Given the description of an element on the screen output the (x, y) to click on. 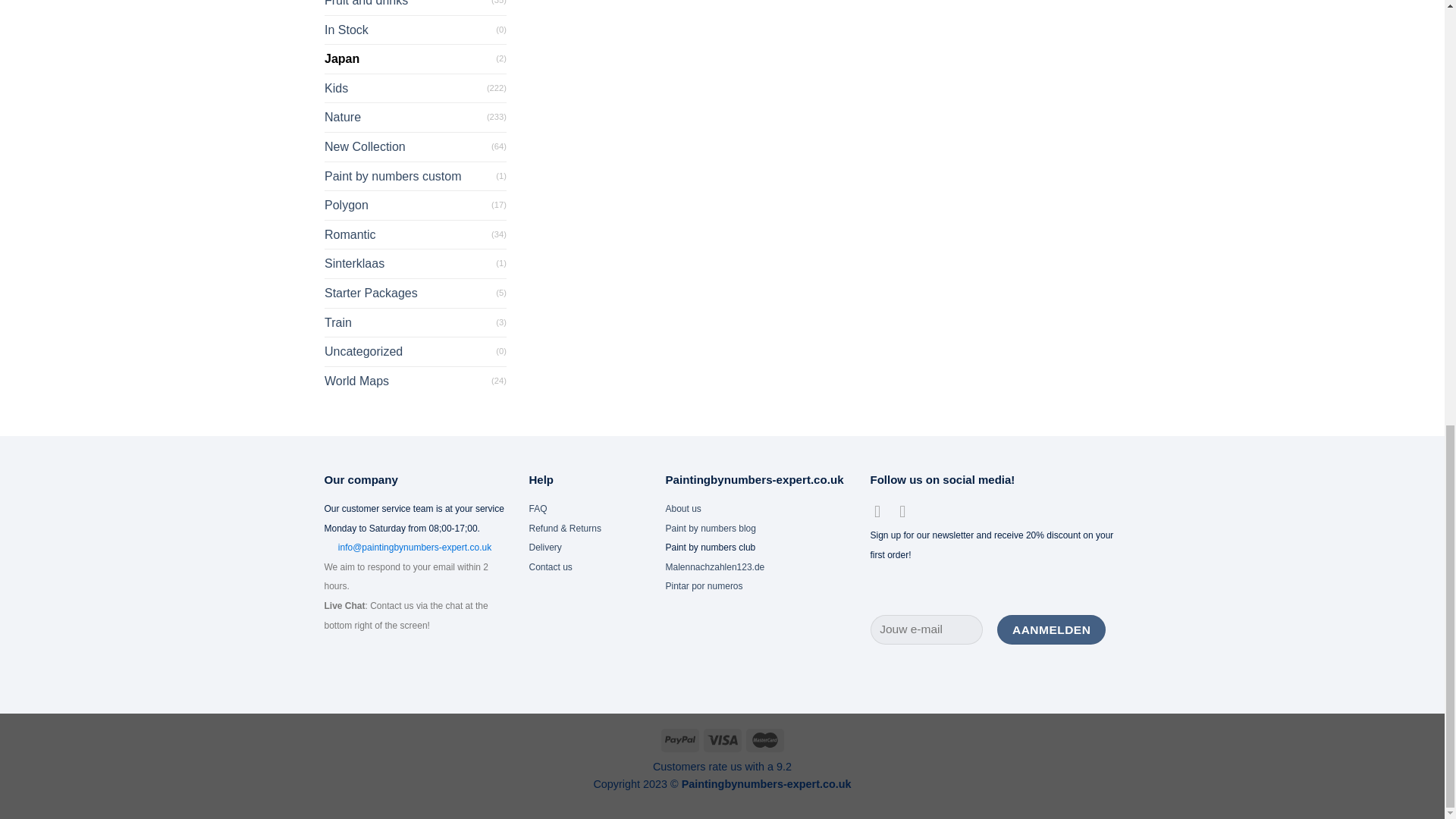
Aanmelden (1051, 629)
Follow on Facebook (883, 511)
Follow on Instagram (907, 511)
